Given the description of an element on the screen output the (x, y) to click on. 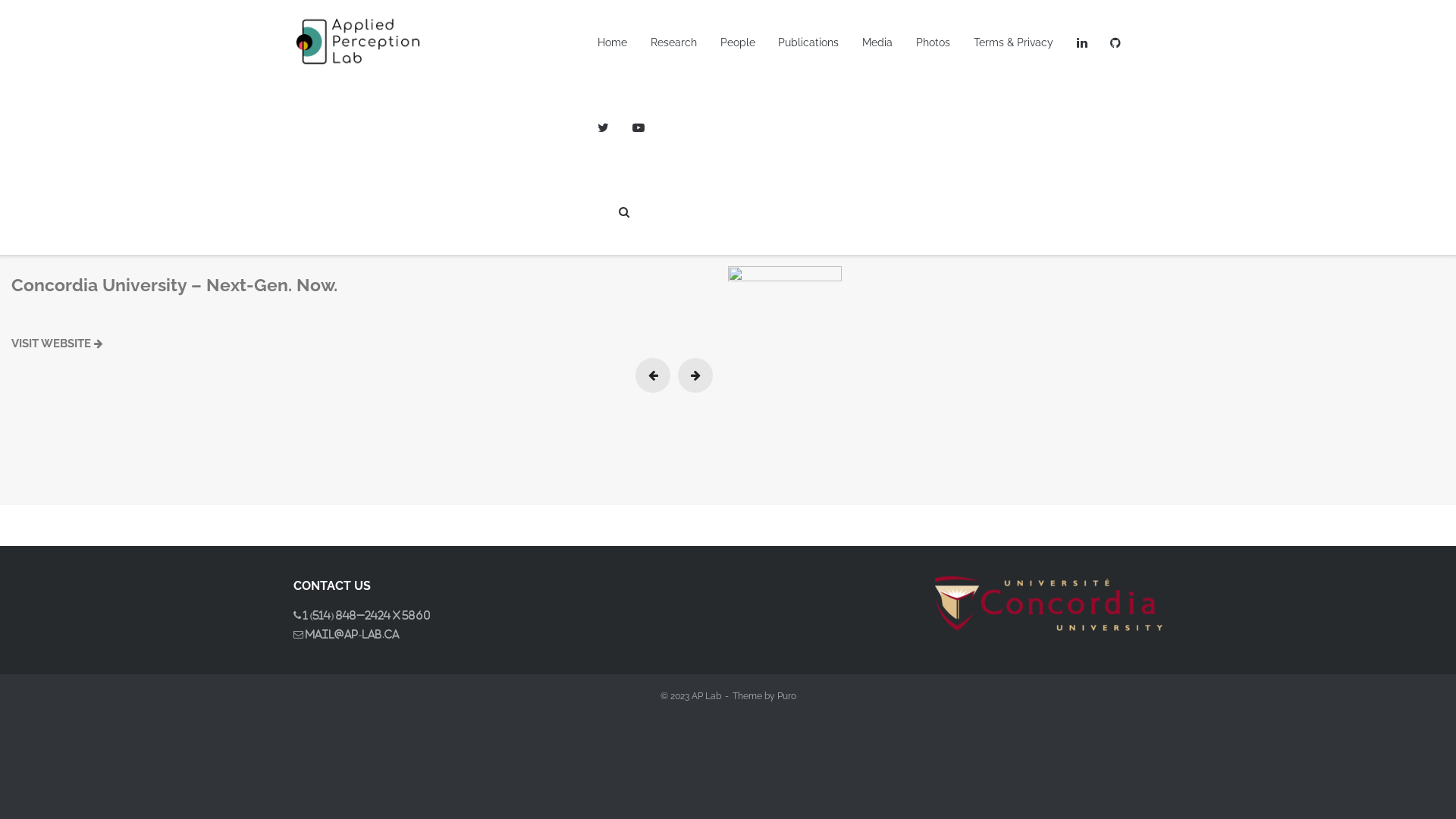
mail@ap-lab.ca Element type: text (351, 634)
Puro Element type: text (785, 695)
concordia_university_logo-svg Element type: hover (1048, 603)
Home Element type: text (612, 42)
twitter Element type: text (602, 126)
Publications Element type: text (808, 42)
People Element type: text (737, 42)
GitHub Element type: text (1115, 42)
VISIT WEBSITE Element type: text (57, 343)
Research Element type: text (673, 42)
AP Lab Element type: text (706, 695)
Linkedin Element type: text (1081, 42)
Terms & Privacy Element type: text (1013, 42)
Photos Element type: text (933, 42)
Youtube Element type: text (638, 126)
Media Element type: text (877, 42)
